Given the description of an element on the screen output the (x, y) to click on. 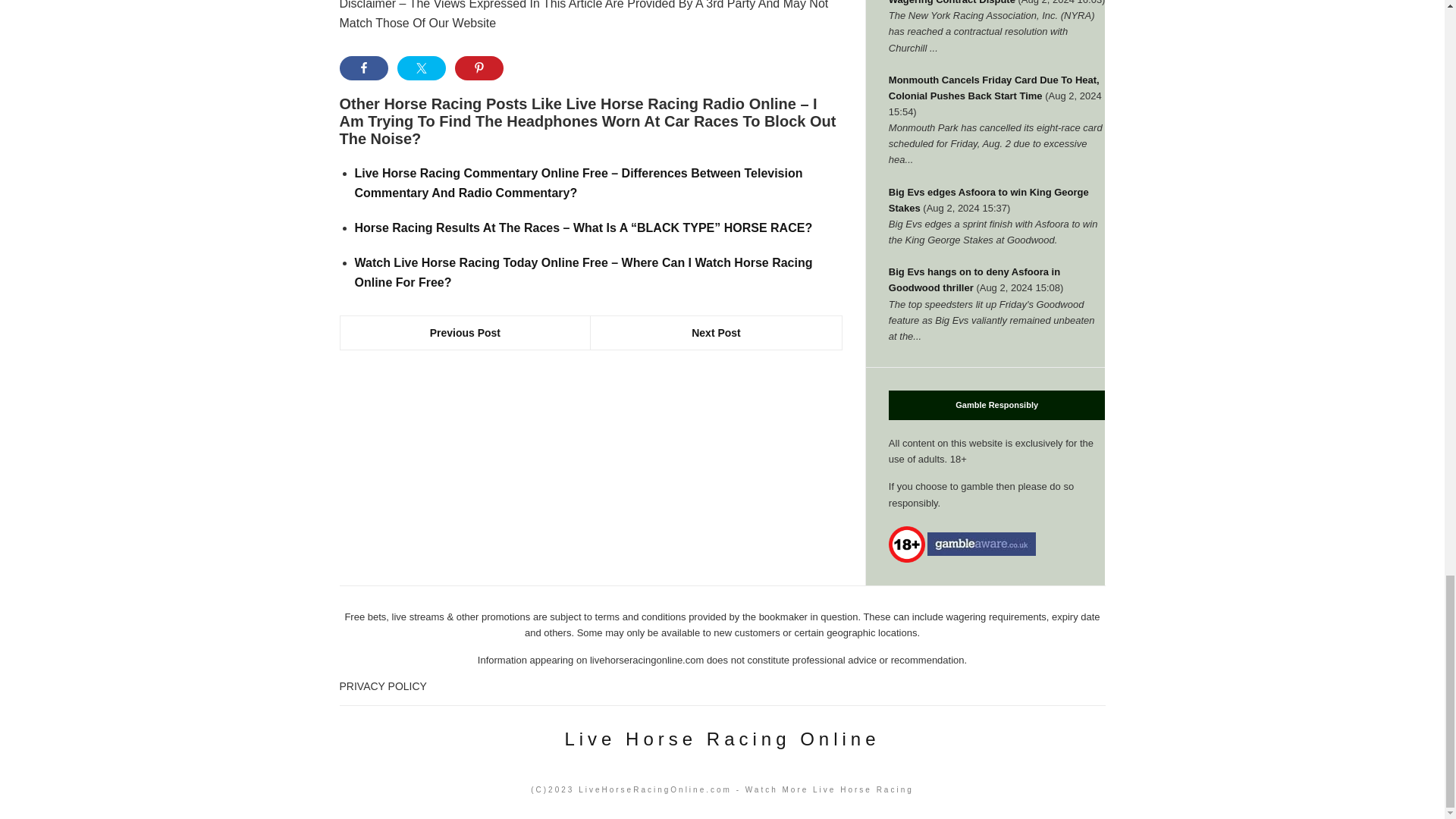
Share on Pinterest (478, 68)
Share on Twitter (421, 68)
Previous Post (465, 332)
Share on Facebook (363, 68)
Next Post (716, 332)
